Given the description of an element on the screen output the (x, y) to click on. 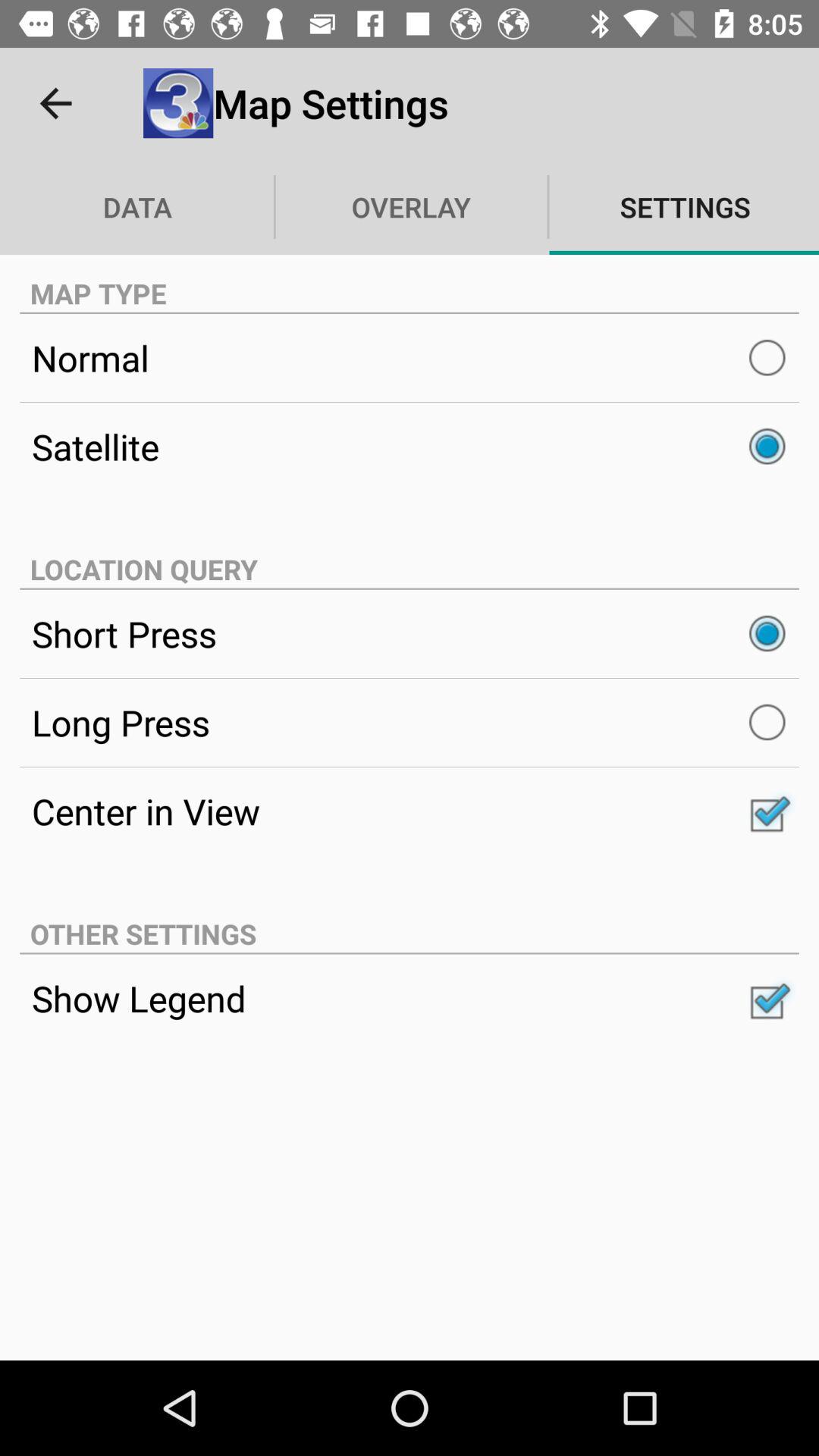
jump until center in view item (409, 811)
